Given the description of an element on the screen output the (x, y) to click on. 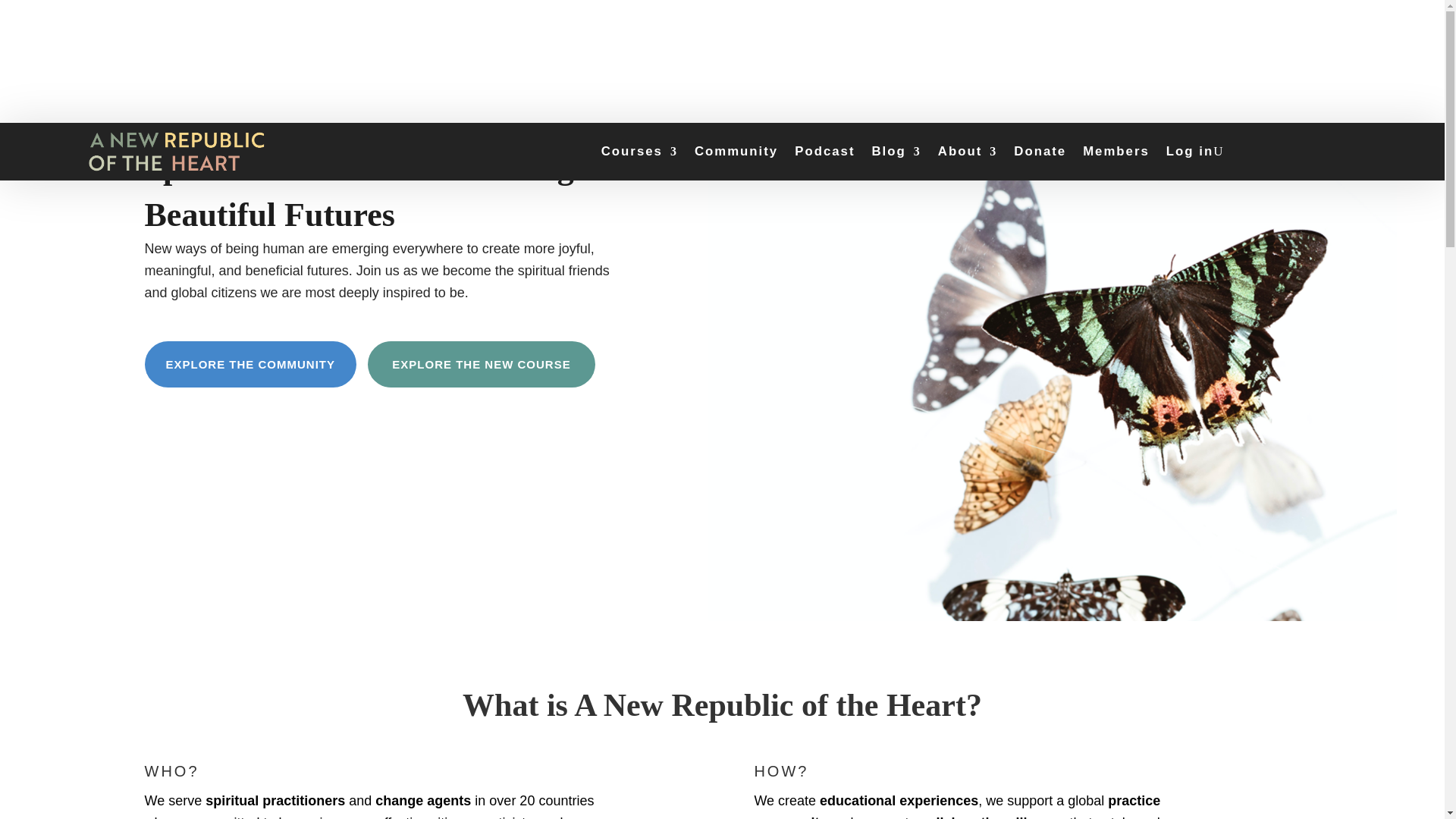
Donate (1039, 151)
EXPLORE THE NEW COURSE (481, 364)
Podcast (824, 151)
Courses (639, 151)
EXPLORE THE COMMUNITY (250, 364)
Community (735, 151)
State of Emergence Podcast (824, 151)
About (967, 151)
Members (1116, 151)
